Given the description of an element on the screen output the (x, y) to click on. 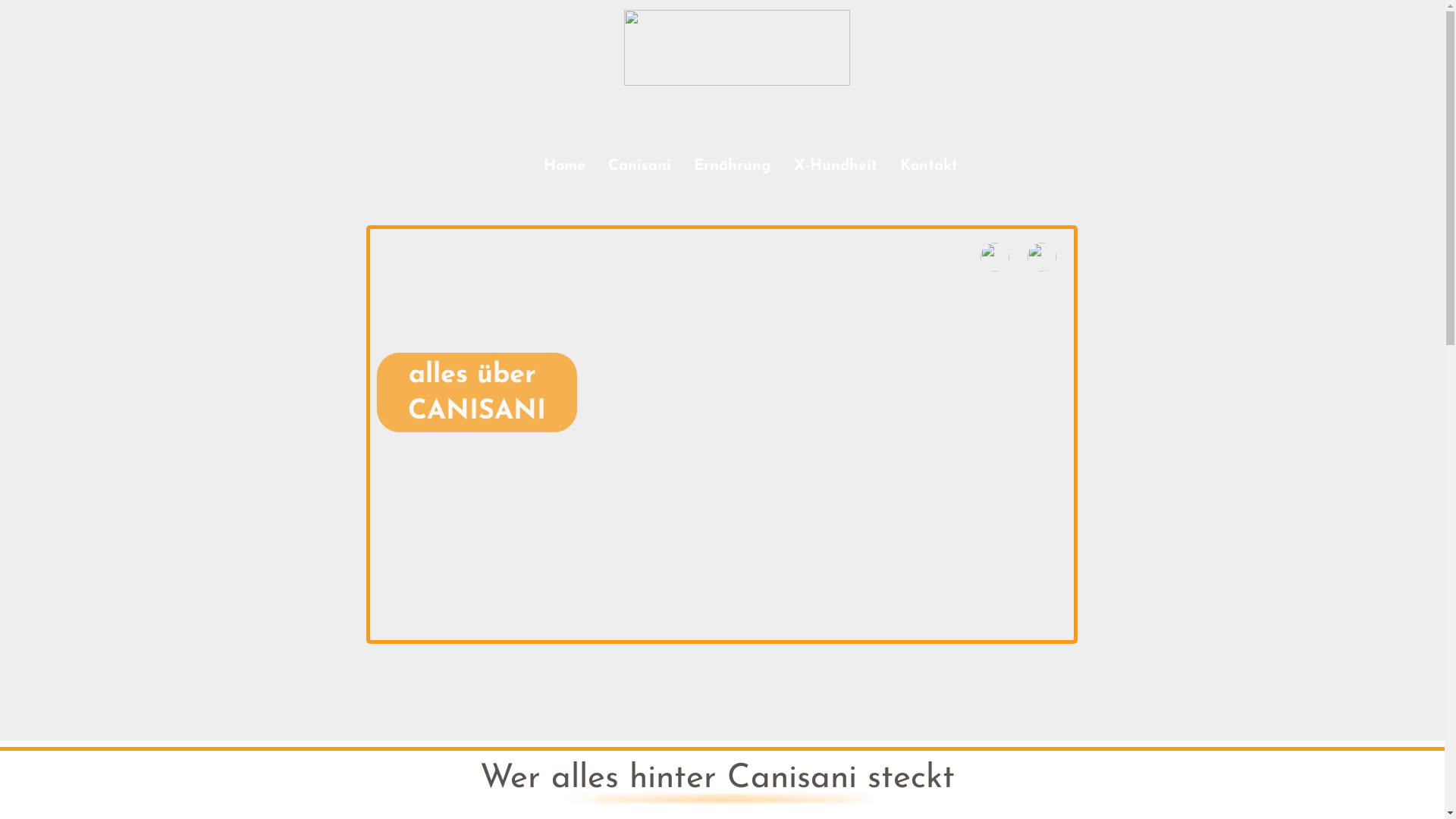
X-Hundheit Element type: text (834, 168)
Kontakt Element type: text (928, 168)
Canisani Element type: text (639, 168)
Home Element type: text (563, 168)
